Given the description of an element on the screen output the (x, y) to click on. 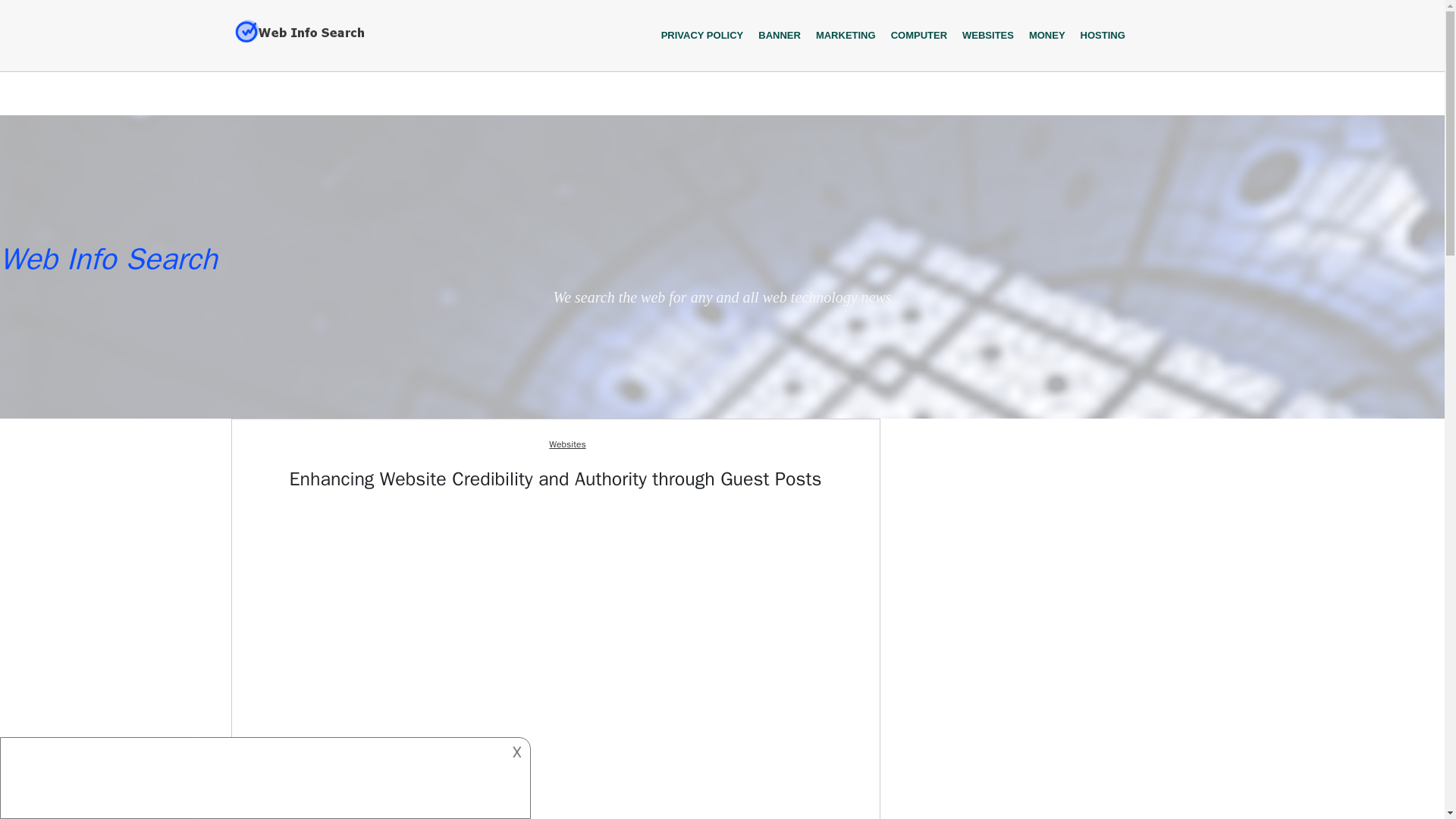
WEBSITES (988, 35)
Websites (566, 444)
PRIVACY POLICY (702, 35)
COMPUTER (919, 35)
BANNER (779, 35)
description (252, 775)
MARKETING (845, 35)
MONEY (1047, 35)
HOSTING (1102, 35)
